Given the description of an element on the screen output the (x, y) to click on. 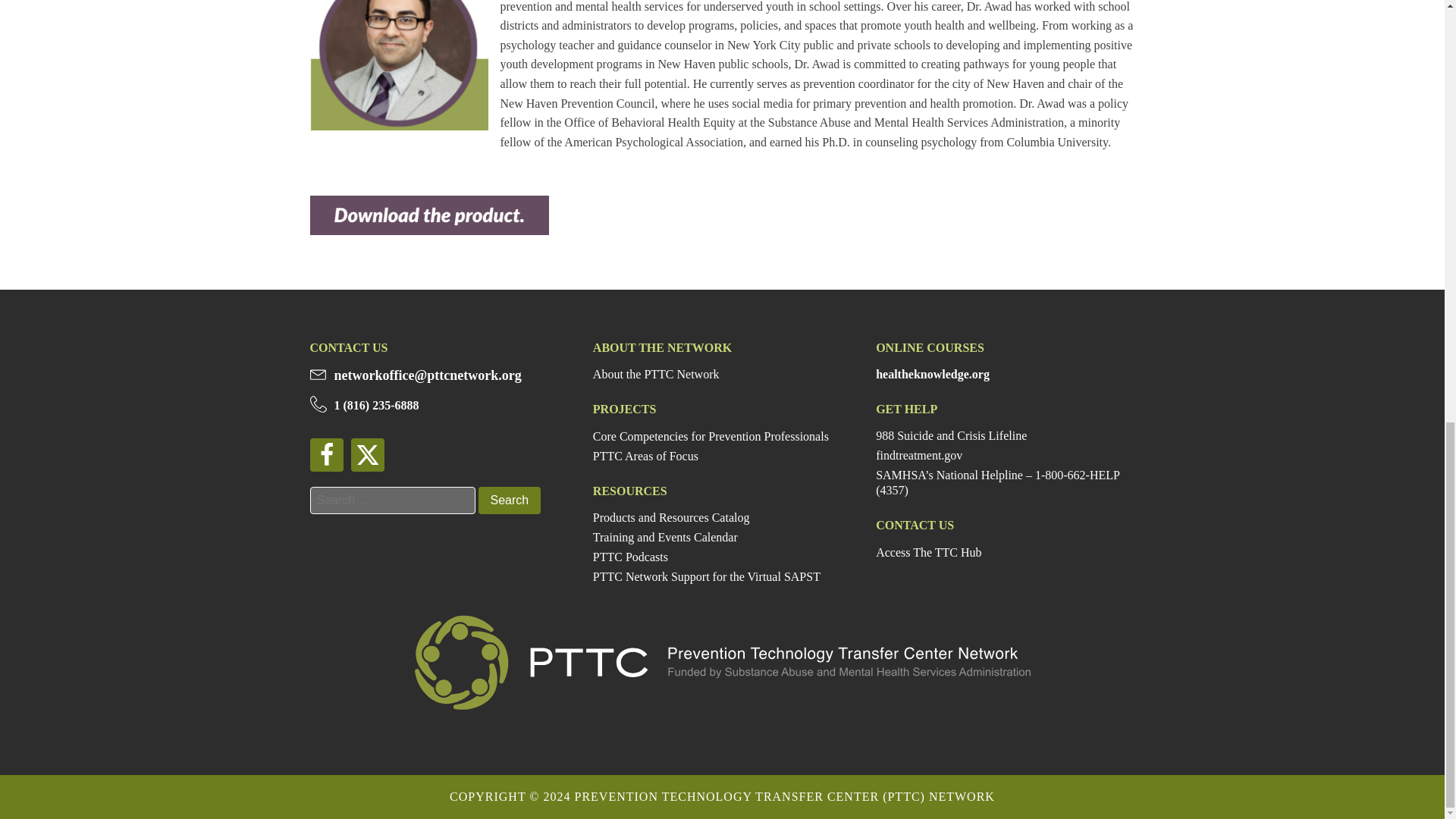
Search (508, 500)
Search (508, 500)
